Given the description of an element on the screen output the (x, y) to click on. 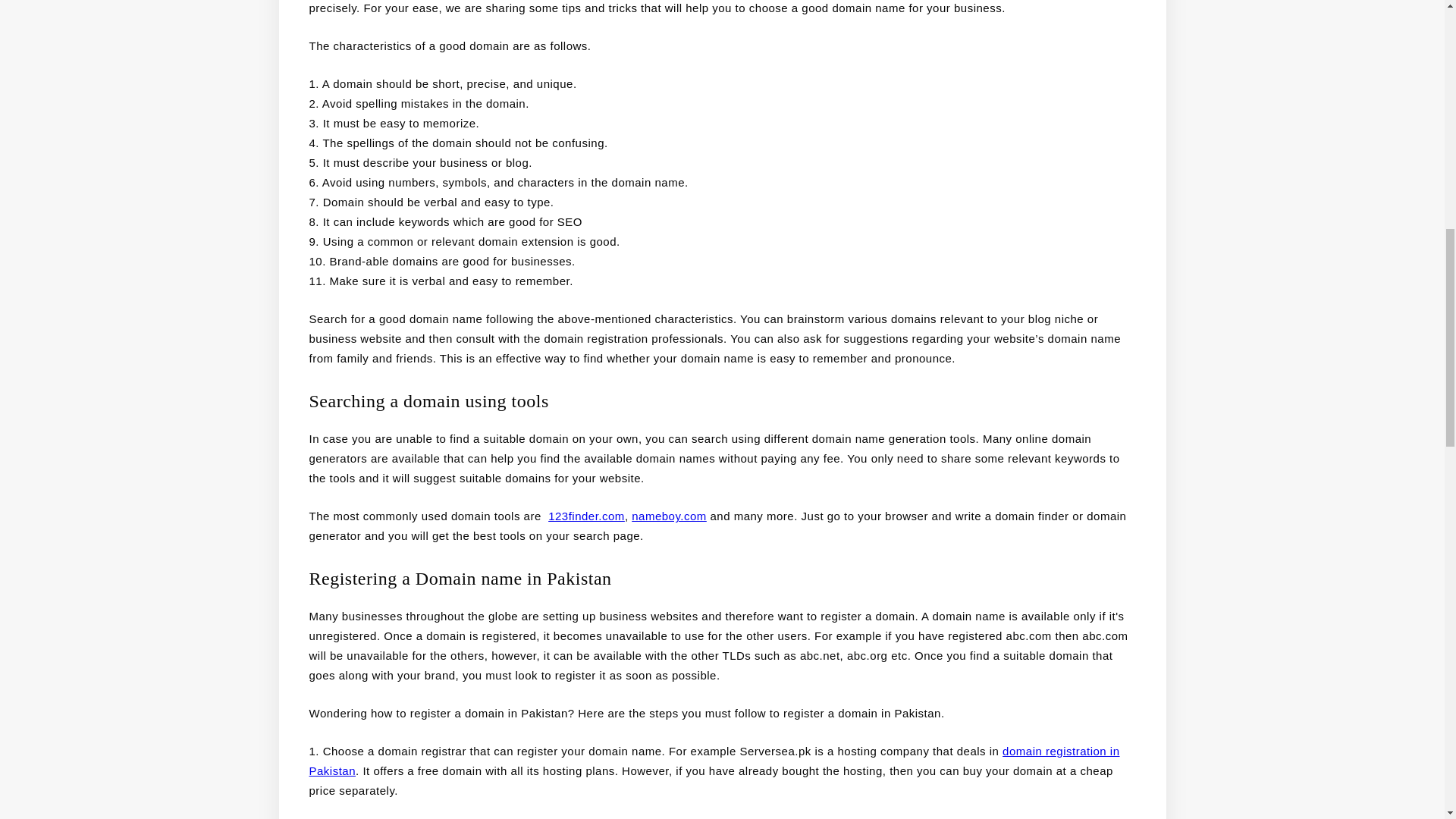
nameboy.com (668, 515)
domain registration in Pakistan (713, 760)
123finder.com (586, 515)
